Given the description of an element on the screen output the (x, y) to click on. 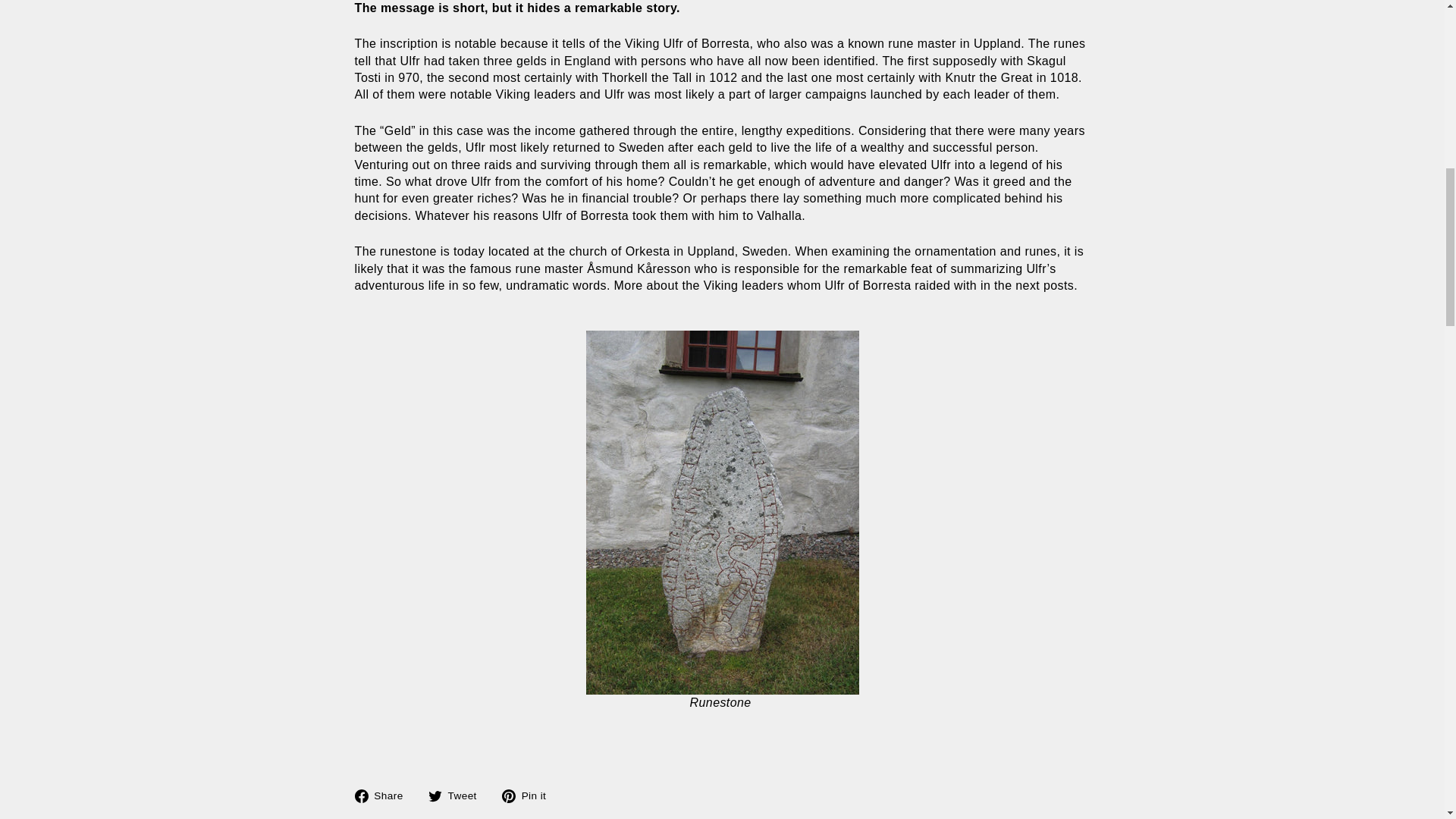
Share on Facebook (384, 795)
Tweet on Twitter (457, 795)
Pin on Pinterest (529, 795)
